Given the description of an element on the screen output the (x, y) to click on. 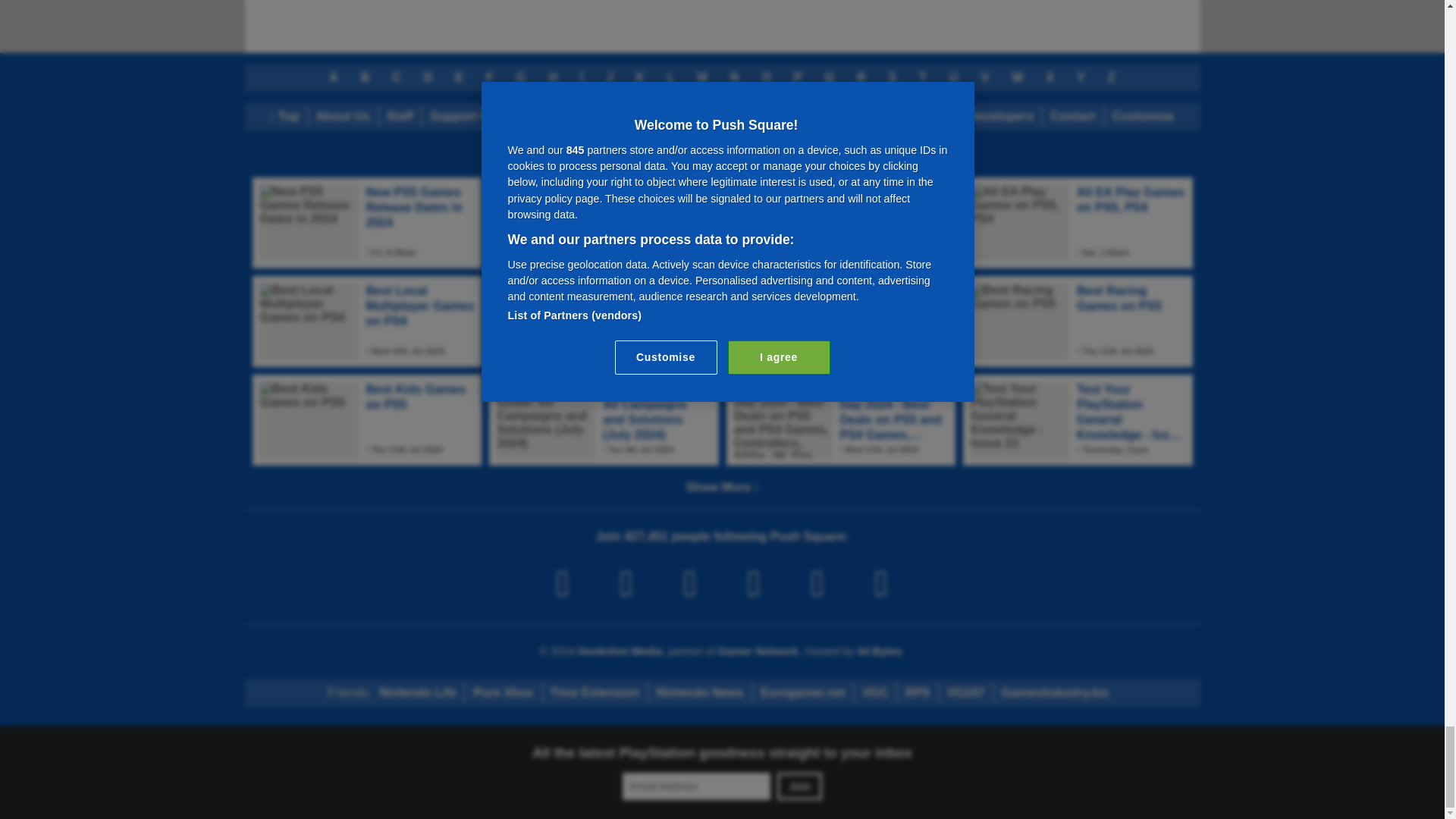
Join (799, 786)
